Given the description of an element on the screen output the (x, y) to click on. 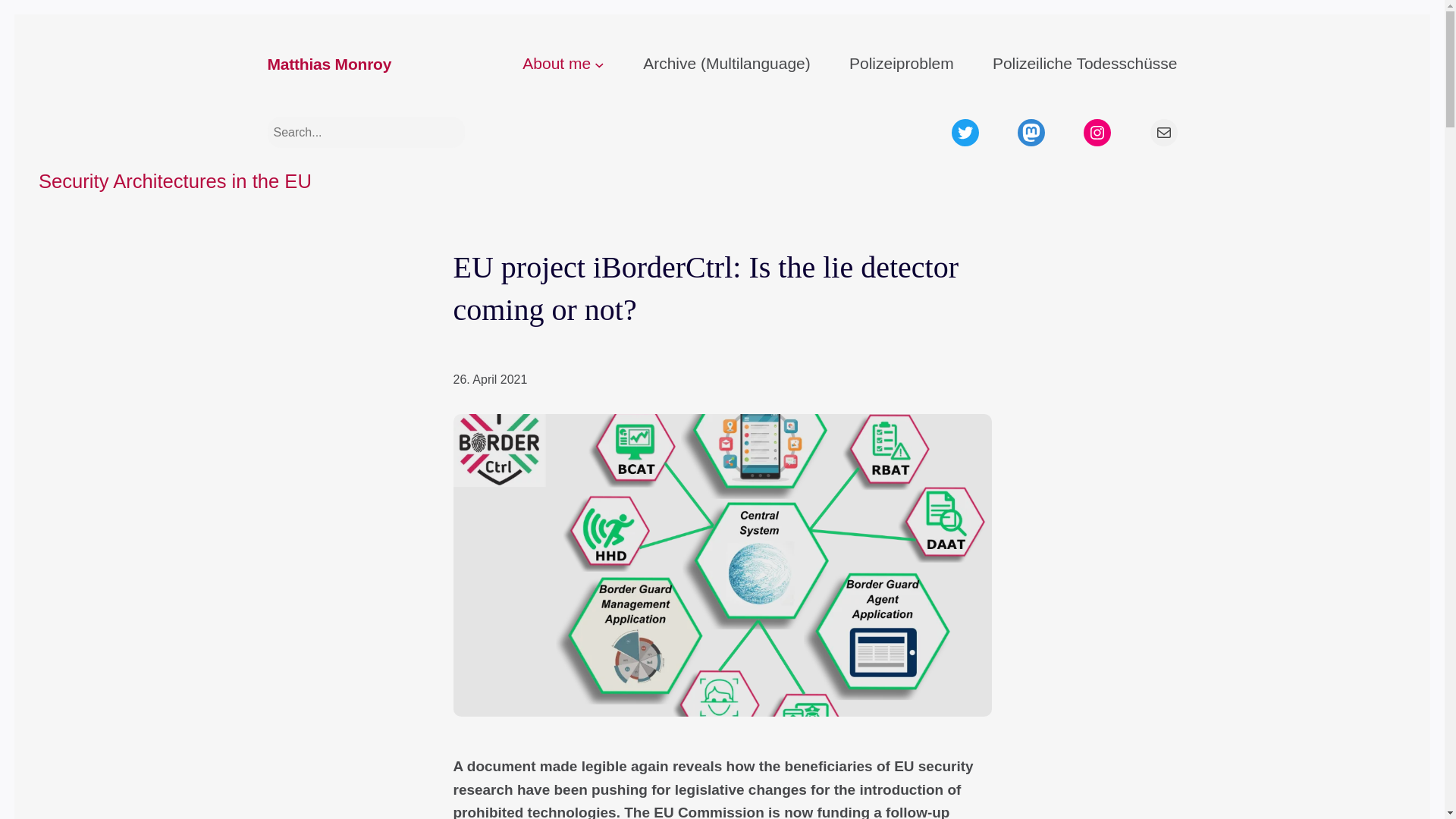
About me (556, 63)
Instagram (1096, 132)
Polizeiproblem (900, 63)
Matthias Monroy (328, 64)
Mastodon (1031, 132)
Twitter (965, 132)
Mail (1163, 132)
